Given the description of an element on the screen output the (x, y) to click on. 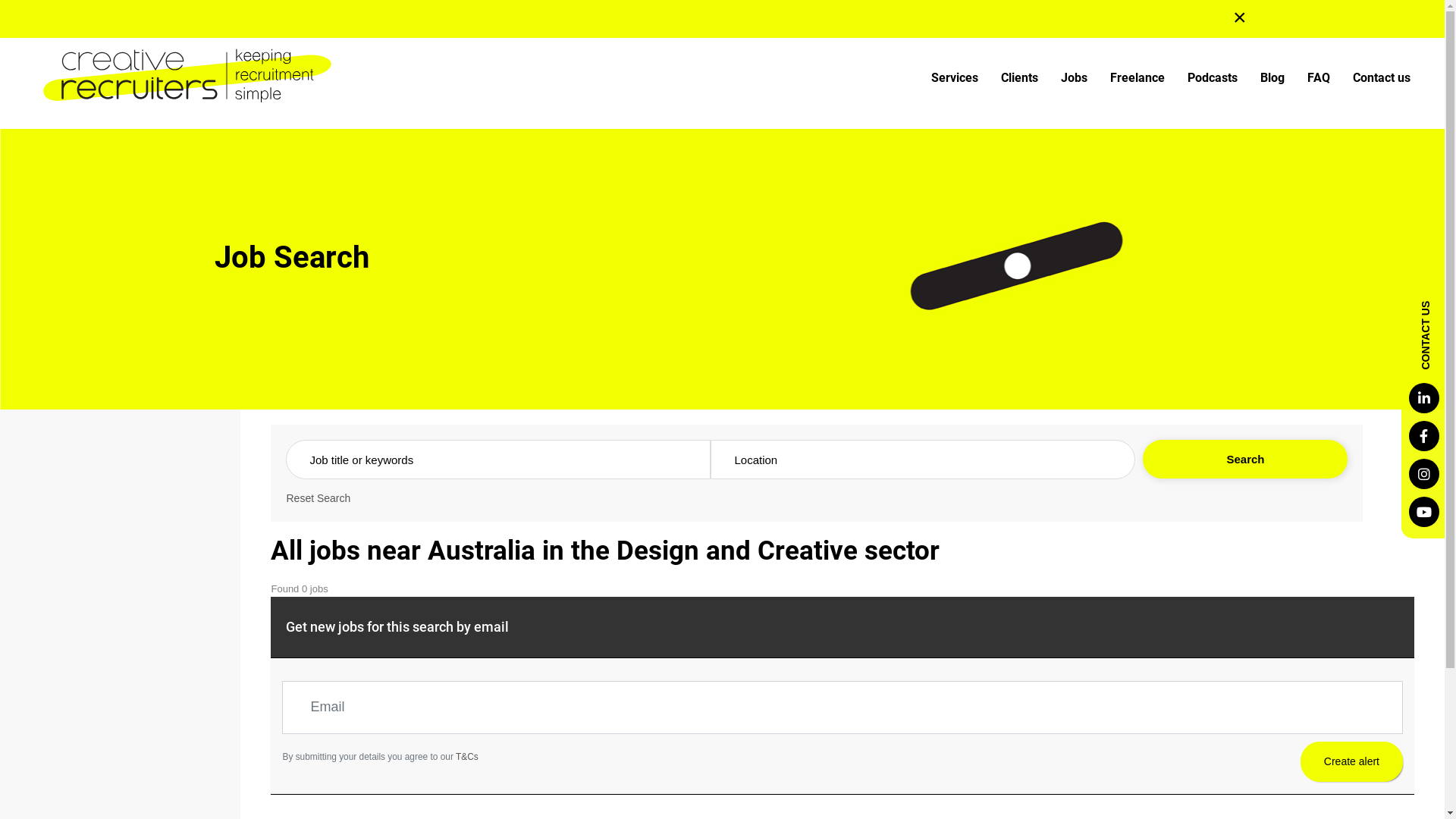
Clients Element type: text (1019, 77)
Freelance Element type: text (1137, 77)
Contact us Element type: text (1381, 77)
Jobs Element type: text (1073, 77)
Reset Search Element type: text (317, 498)
Blog Element type: text (1271, 77)
Facebook Element type: hover (1423, 435)
Services Element type: text (954, 77)
Instagram Element type: hover (1423, 473)
LinkedIn Element type: hover (1423, 397)
Create alert Element type: text (1351, 761)
Creative Recruiters Element type: text (181, 75)
Search Element type: text (1244, 458)
T&Cs Element type: text (465, 755)
Podcasts Element type: text (1212, 77)
Youtube Element type: hover (1423, 511)
FAQ Element type: text (1318, 77)
